Given the description of an element on the screen output the (x, y) to click on. 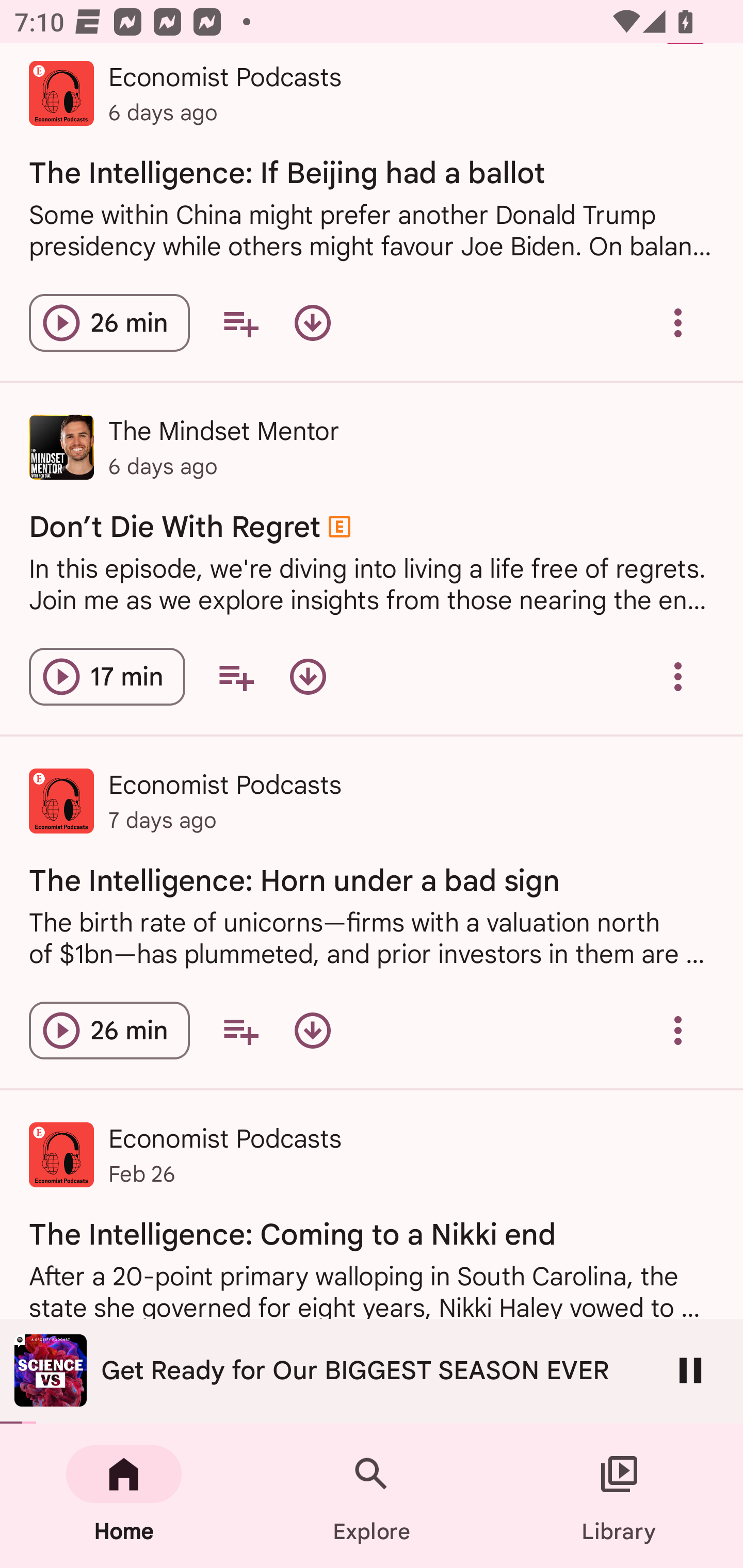
Add to your queue (240, 322)
Download episode (312, 322)
Overflow menu (677, 322)
Play episode Don’t Die With Regret 17 min (106, 676)
Add to your queue (235, 676)
Download episode (307, 676)
Overflow menu (677, 676)
Add to your queue (240, 1030)
Download episode (312, 1030)
Overflow menu (677, 1030)
Pause (690, 1370)
Explore (371, 1495)
Library (619, 1495)
